Given the description of an element on the screen output the (x, y) to click on. 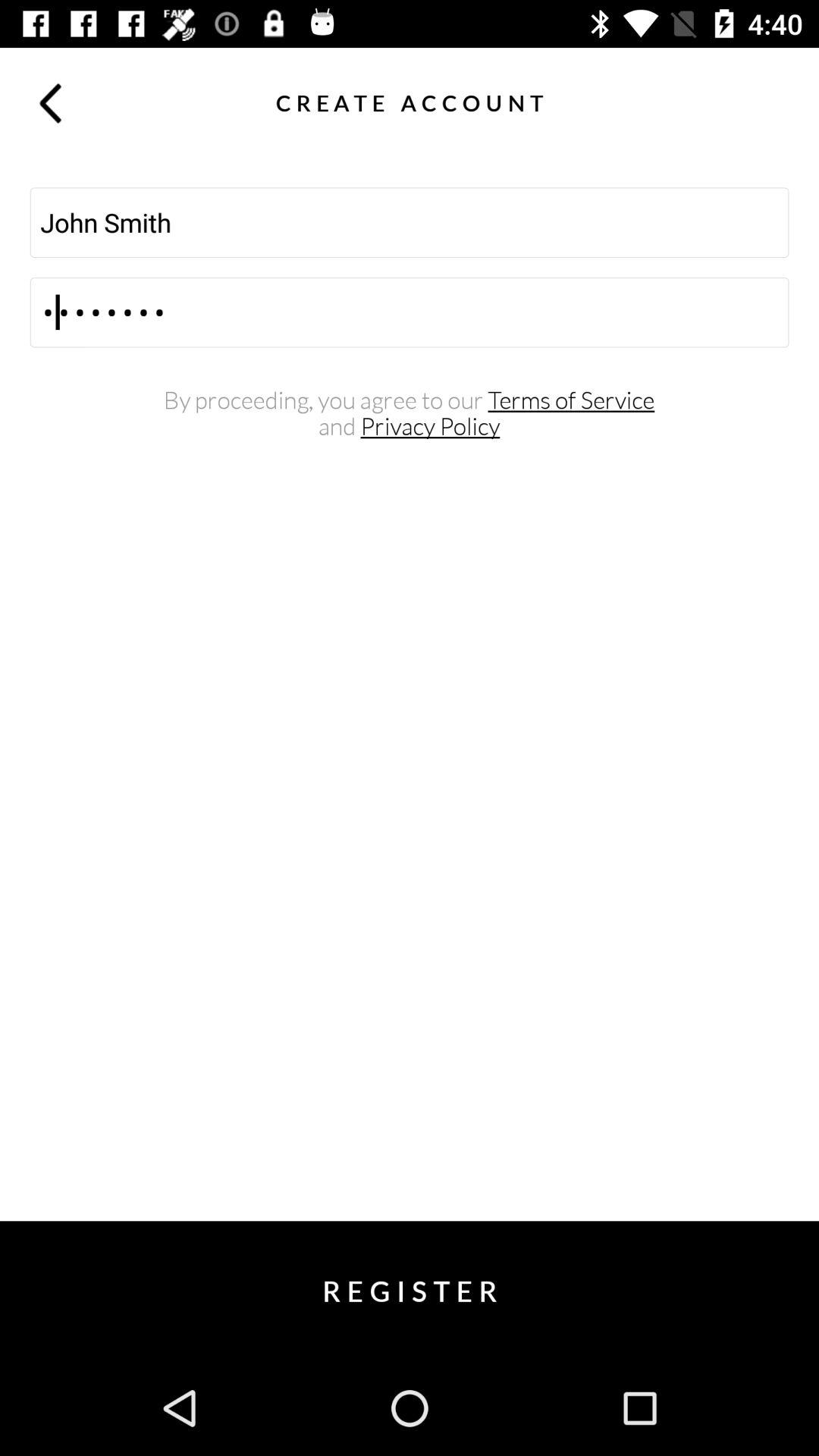
launch icon below the by proceeding you icon (408, 426)
